Given the description of an element on the screen output the (x, y) to click on. 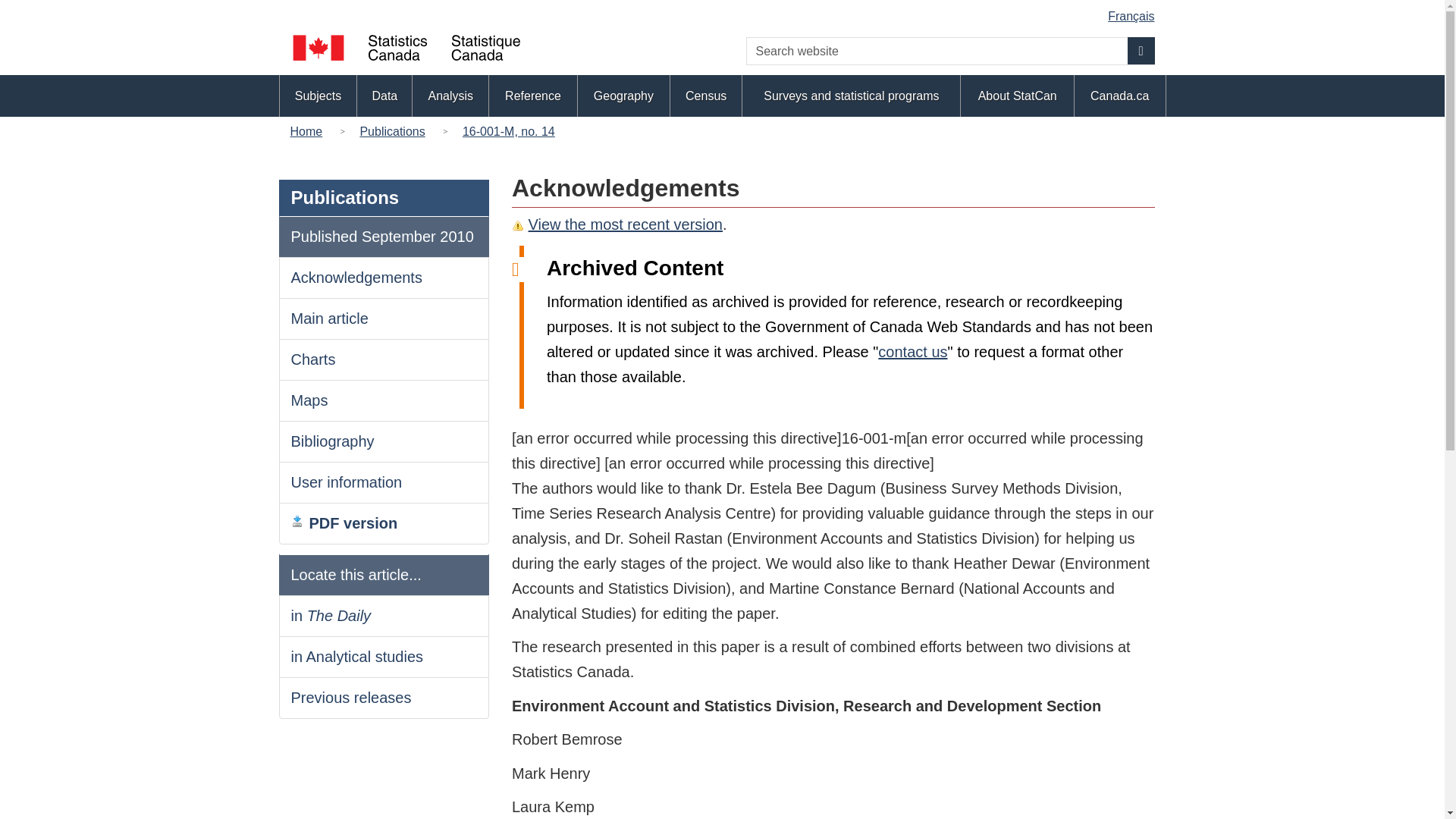
About StatCan (1017, 96)
Geography (623, 96)
in The Daily (331, 615)
Publications (392, 131)
User information (347, 482)
Bibliography (332, 441)
Search (1140, 50)
Canada.ca (1120, 96)
16-001-M, no. 14 (508, 131)
View the most recent version (625, 224)
